Given the description of an element on the screen output the (x, y) to click on. 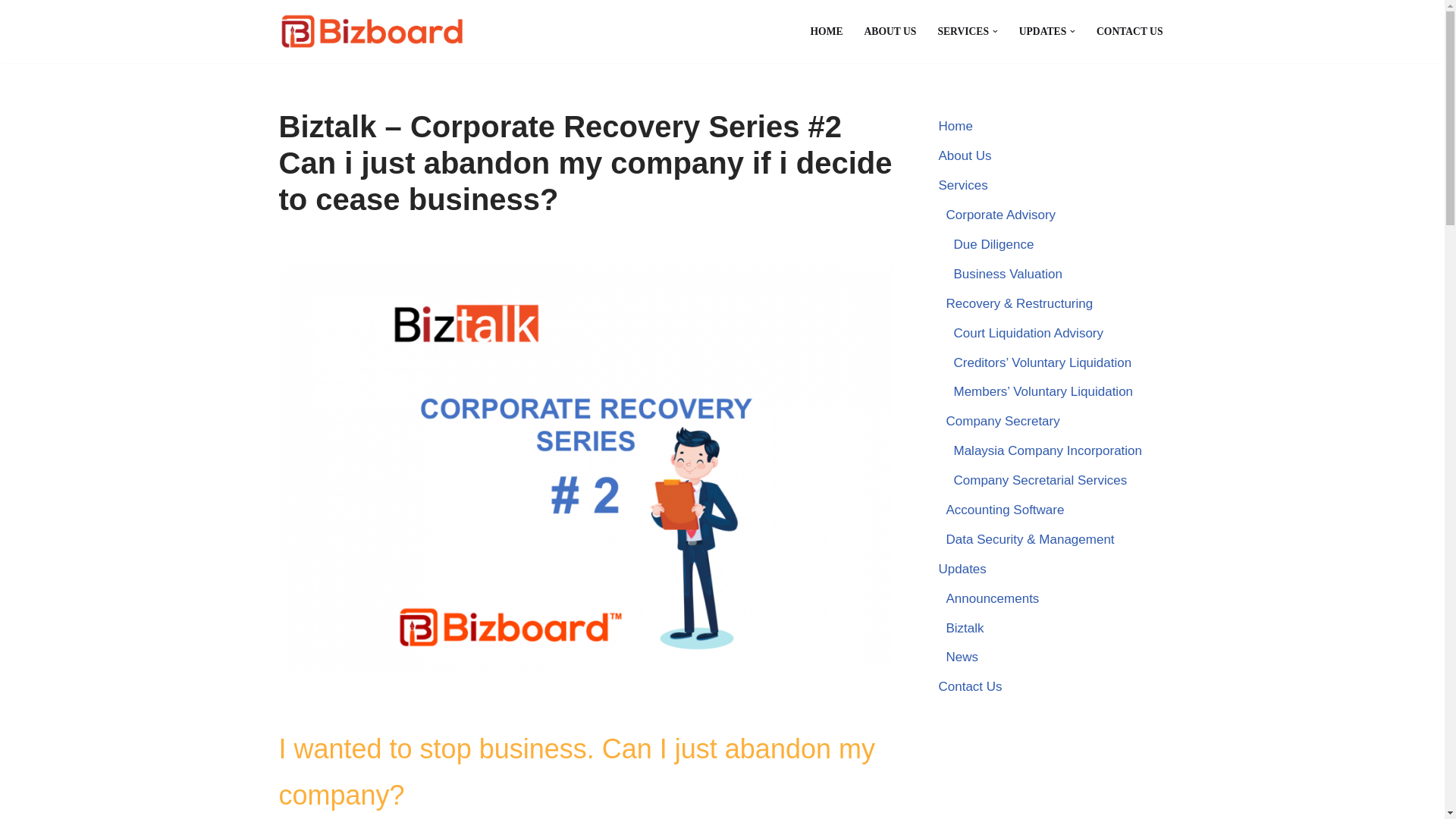
UPDATES (1042, 31)
Skip to content (11, 31)
HOME (826, 31)
SERVICES (962, 31)
ABOUT US (890, 31)
CONTACT US (1129, 31)
